Given the description of an element on the screen output the (x, y) to click on. 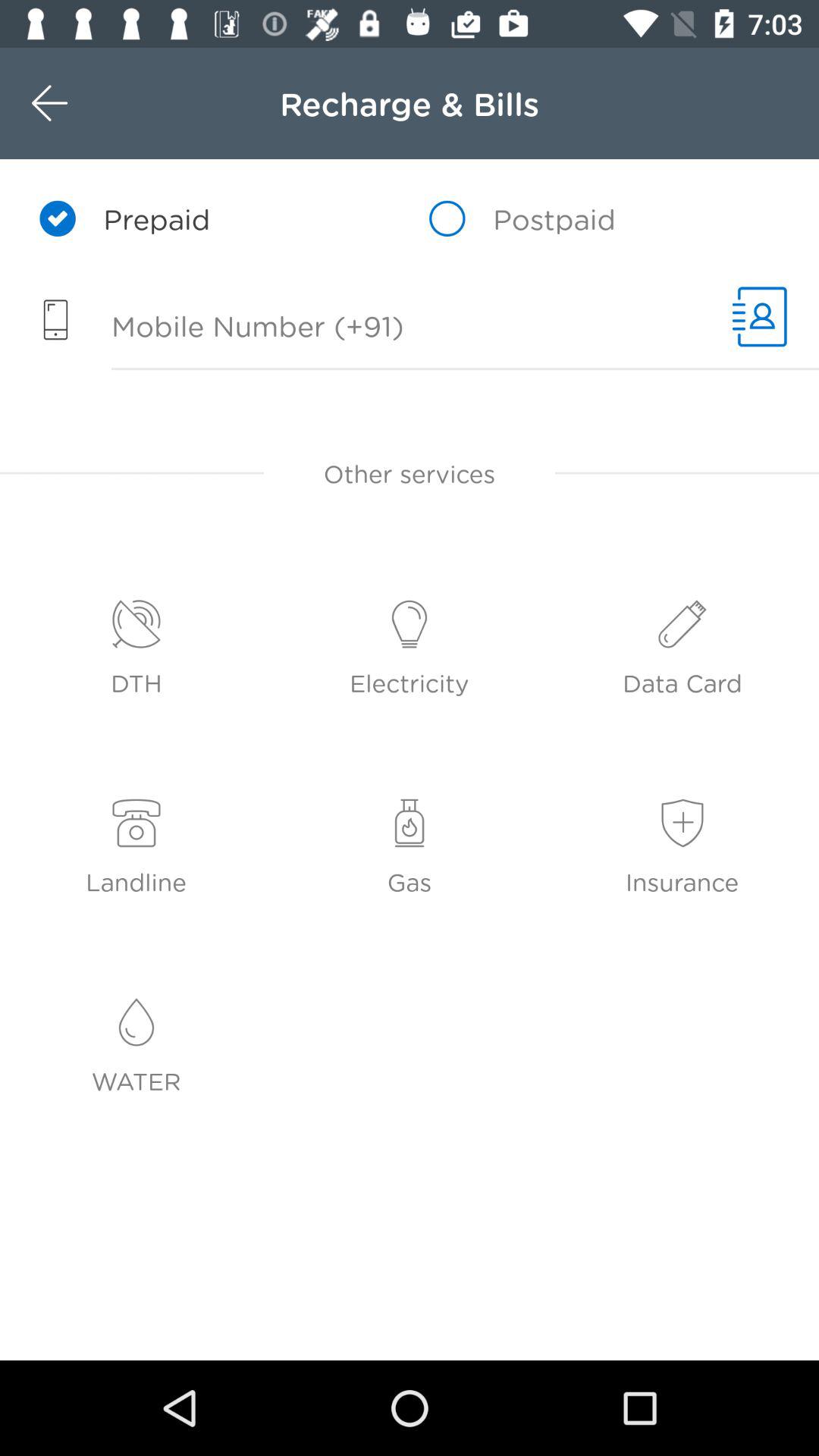
click on the phone book icon (759, 316)
select the icon above the landline (136, 823)
click on the icon above the insurance (682, 823)
